Given the description of an element on the screen output the (x, y) to click on. 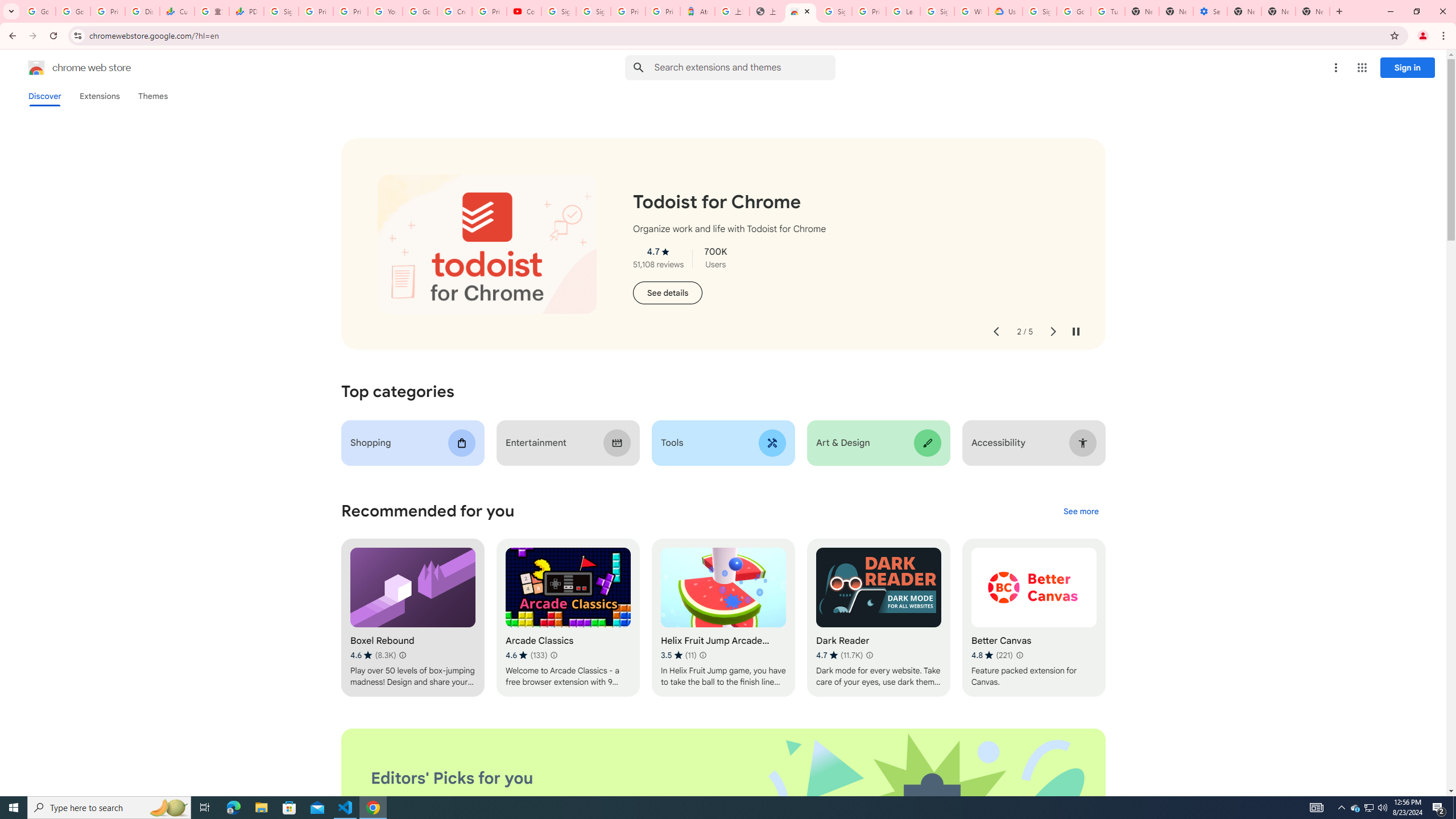
Arcade Classics (567, 617)
Google Account Help (419, 11)
Better Canvas (1033, 617)
Helix Fruit Jump Arcade Game (722, 617)
